Given the description of an element on the screen output the (x, y) to click on. 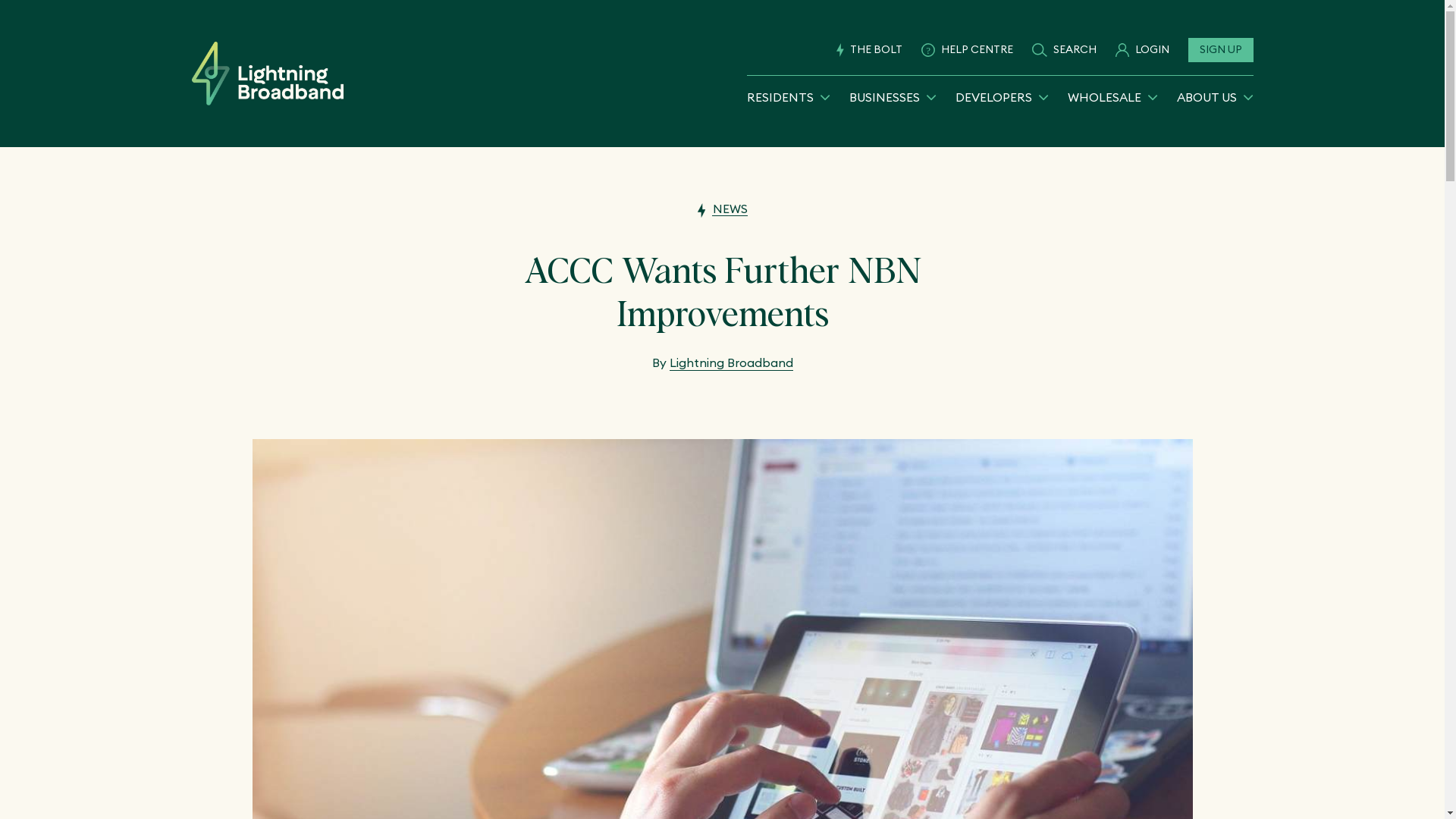
Lightning Broadband Element type: hover (266, 73)
WHOLESALE Element type: text (1112, 96)
?
HELP CENTRE Element type: text (967, 49)
RESIDENTS Element type: text (787, 96)
ABOUT US Element type: text (1214, 96)
SIGN UP Element type: text (1219, 49)
THE BOLT Element type: text (869, 49)
DEVELOPERS Element type: text (1001, 96)
NEWS Element type: text (722, 208)
BUSINESSES Element type: text (892, 96)
Lightning Broadband Element type: text (730, 362)
SEARCH Element type: text (1064, 49)
LOGIN Element type: text (1141, 49)
